Given the description of an element on the screen output the (x, y) to click on. 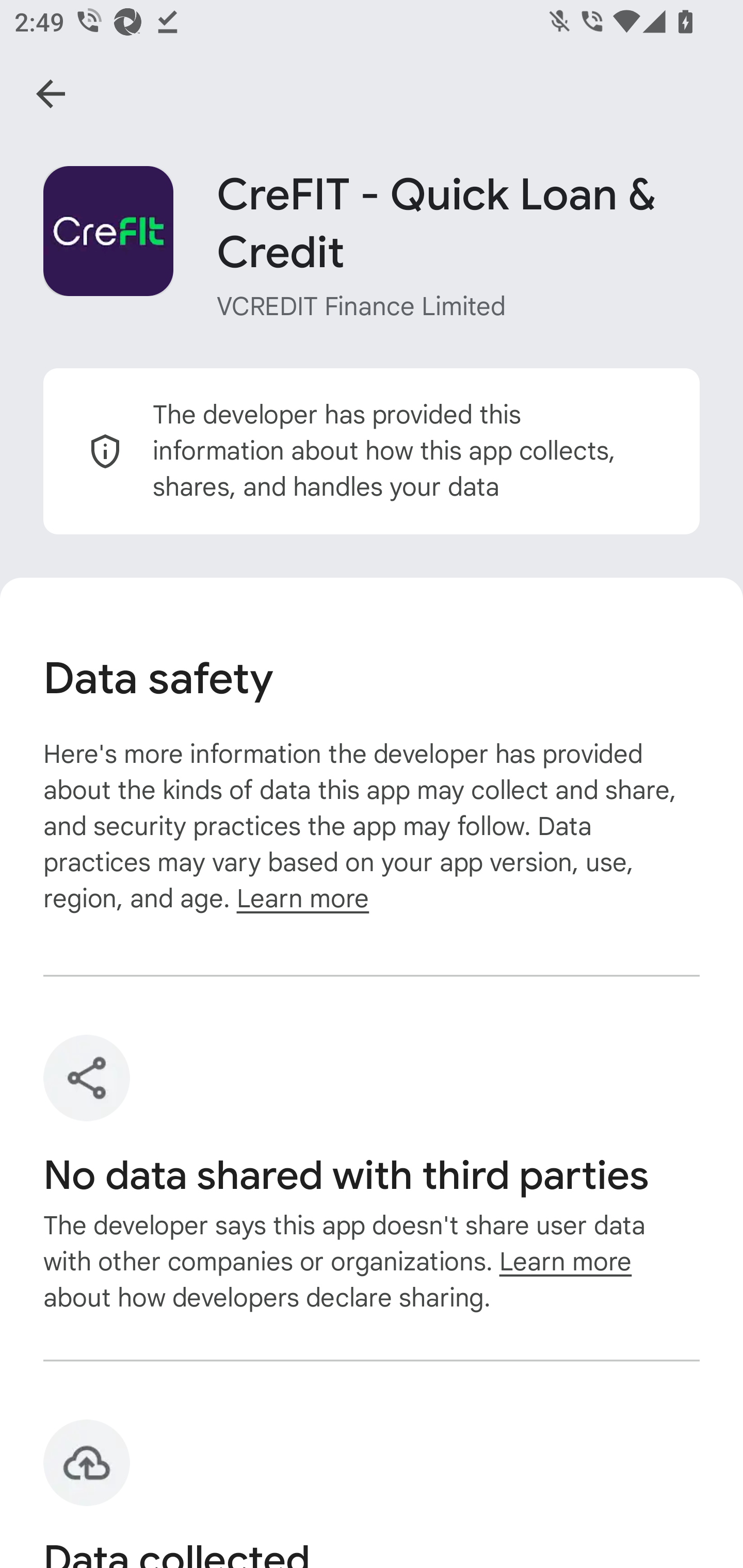
Navigate up (50, 93)
